Given the description of an element on the screen output the (x, y) to click on. 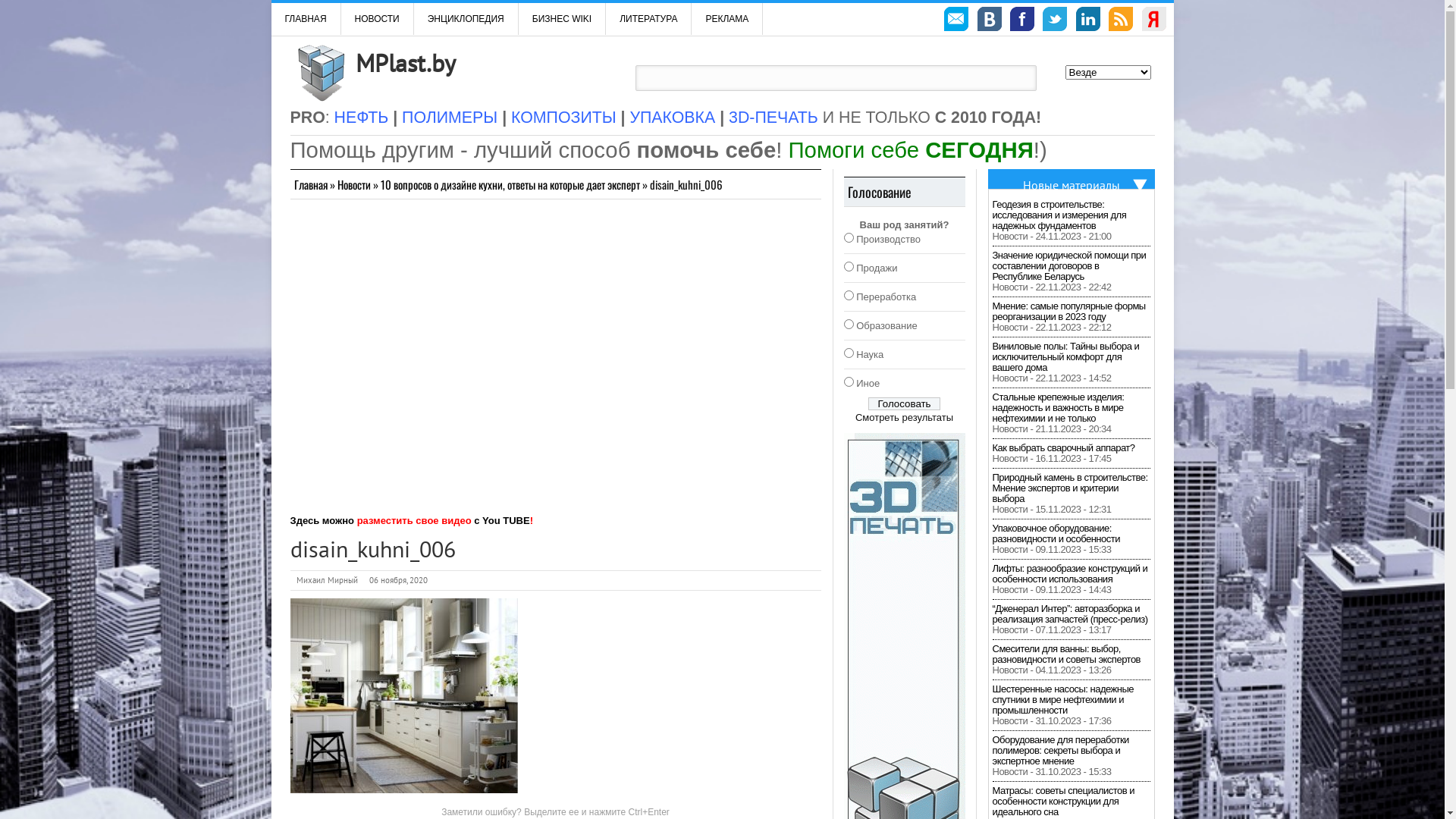
Twitter Mplast.by Element type: hover (1054, 20)
VKontakte Mplast.by Element type: hover (989, 20)
MPlast.by Element type: text (404, 62)
RSS Feed Element type: hover (1120, 20)
Facebook Mplast.by Element type: hover (1022, 20)
Linkedin Mplast.by Element type: hover (1088, 20)
